Given the description of an element on the screen output the (x, y) to click on. 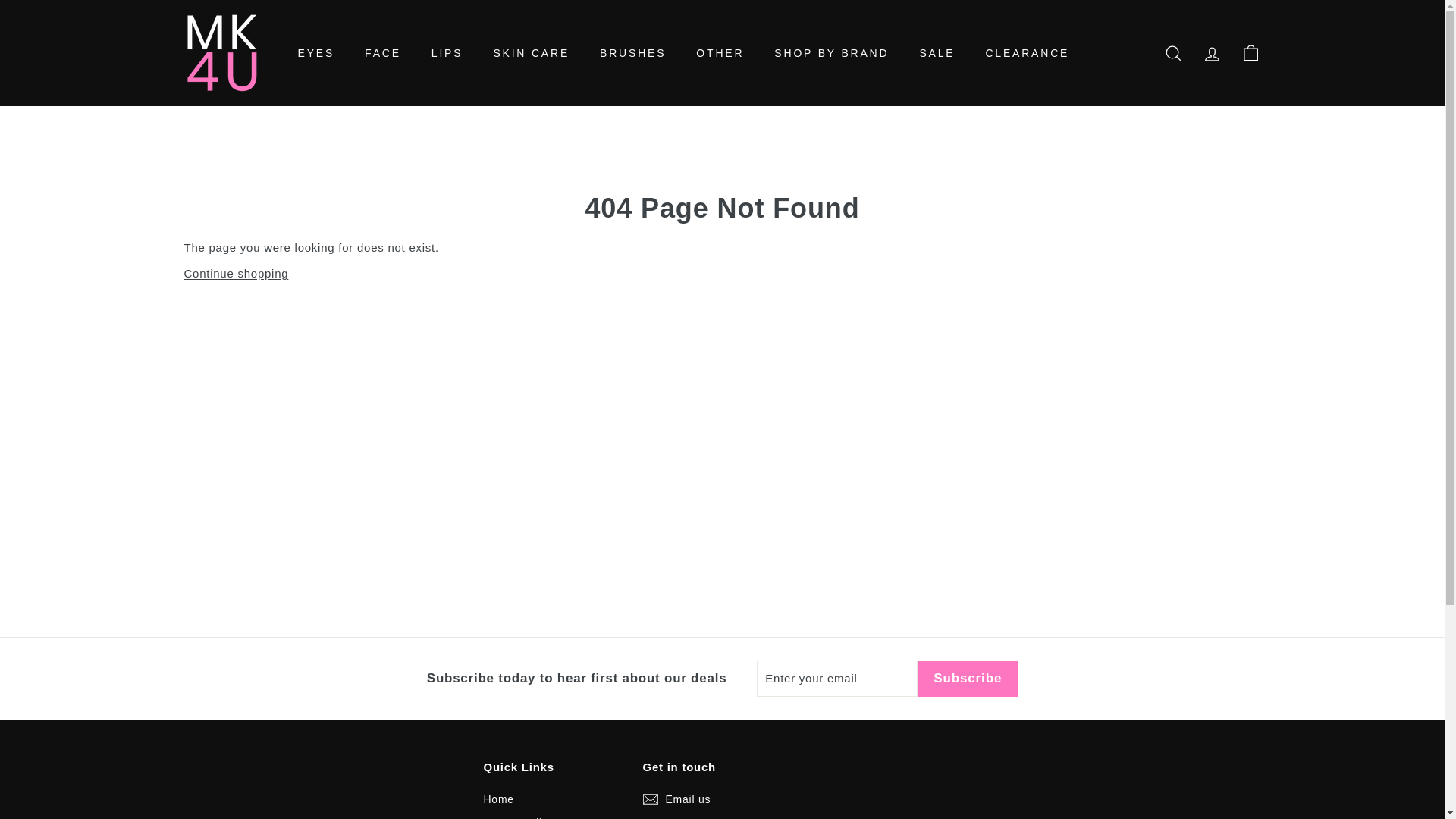
FACE (382, 52)
EYES (315, 52)
OTHER (719, 52)
BRUSHES (633, 52)
SKIN CARE (531, 52)
SHOP BY BRAND (831, 52)
LIPS (447, 52)
